Given the description of an element on the screen output the (x, y) to click on. 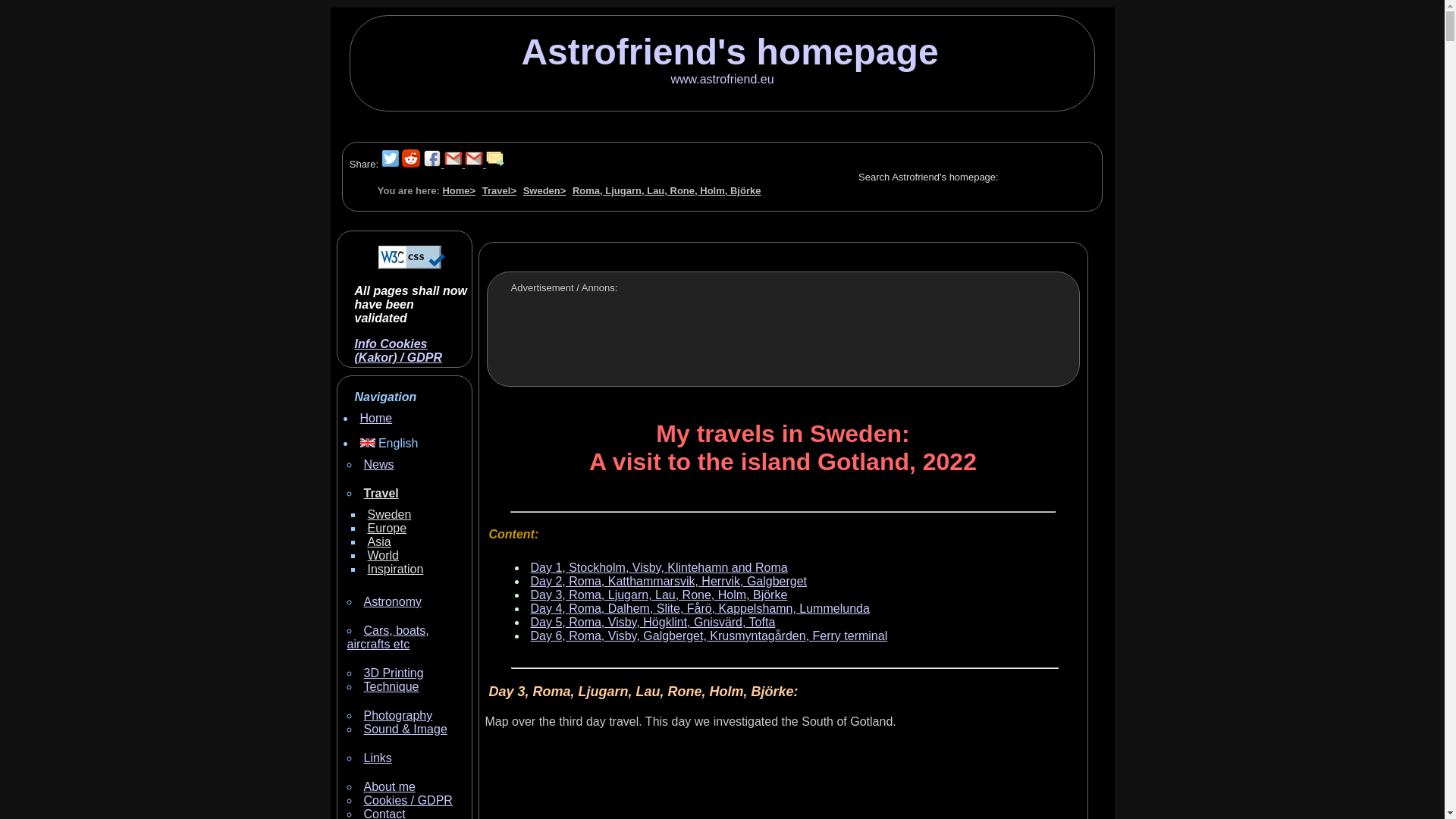
Share with Email (494, 163)
Inspiration (394, 568)
Submit to Reddit (410, 163)
Travel (381, 492)
About me (389, 786)
Sweden (544, 190)
News (379, 463)
Home (375, 418)
Inspiration (394, 568)
World (382, 554)
